Given the description of an element on the screen output the (x, y) to click on. 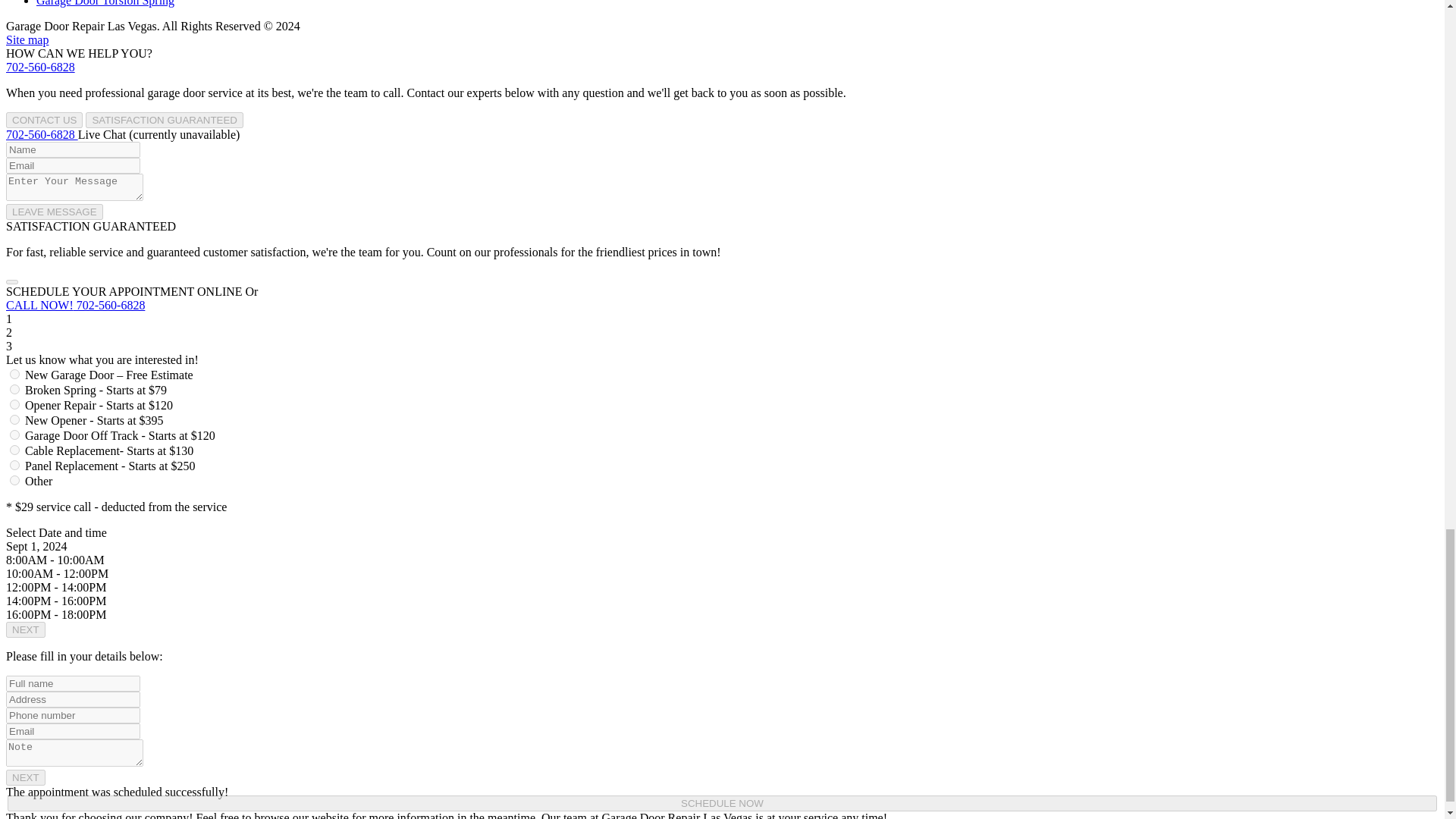
LEAVE MESSAGE (54, 211)
Other (15, 480)
Close (11, 282)
